Given the description of an element on the screen output the (x, y) to click on. 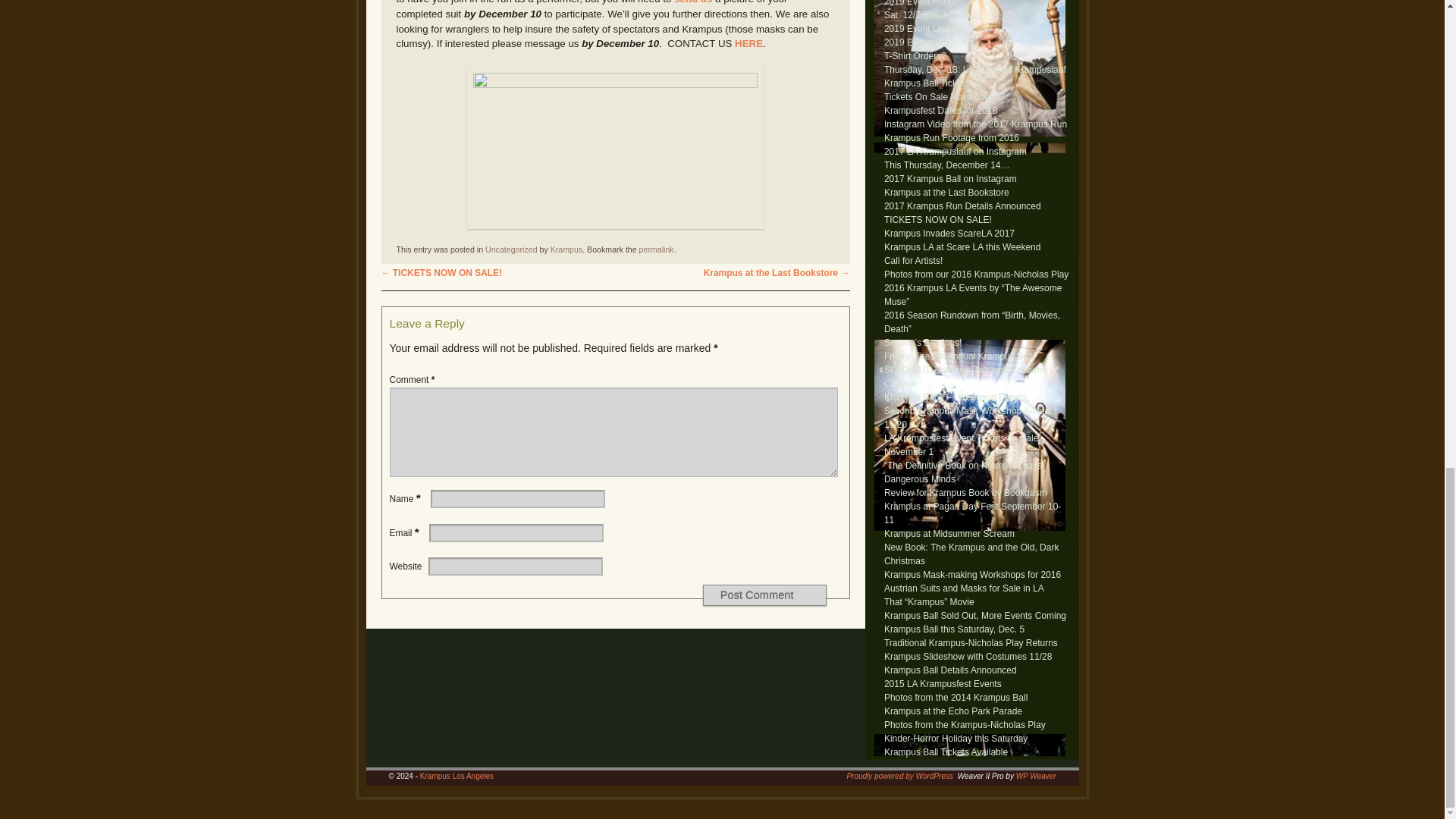
permalink (656, 248)
Uncategorized (510, 248)
Permalink to 2017 Krampus Run Details Announced (656, 248)
Post Comment (765, 595)
HERE (748, 43)
send us (692, 2)
Post Comment (765, 595)
Krampus (566, 248)
